Given the description of an element on the screen output the (x, y) to click on. 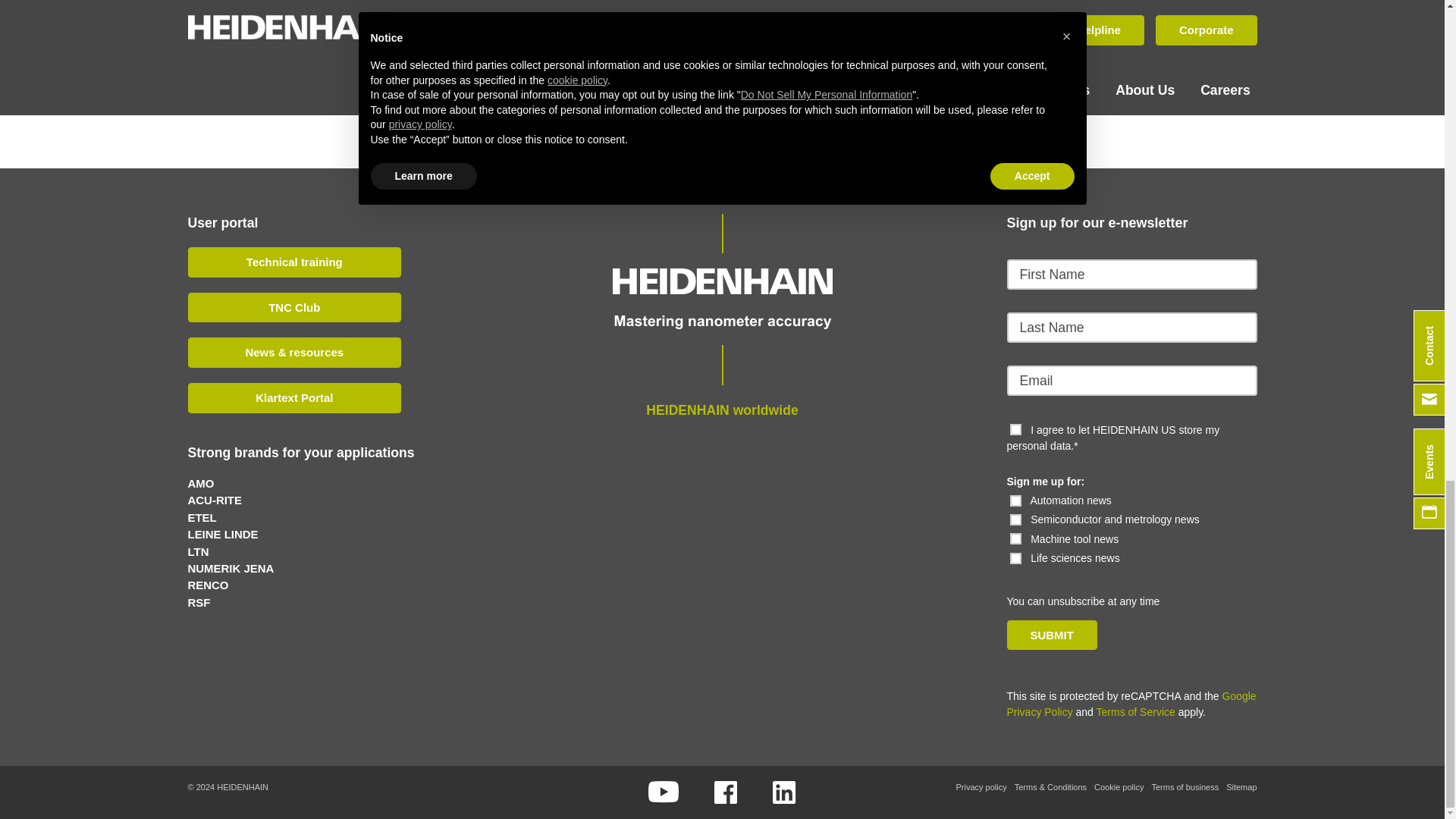
Machine tool news (1016, 538)
SUBMIT (1052, 634)
Automation news (1016, 500)
Life sciences news (1016, 558)
Semiconductor and metrology news (1016, 519)
